Given the description of an element on the screen output the (x, y) to click on. 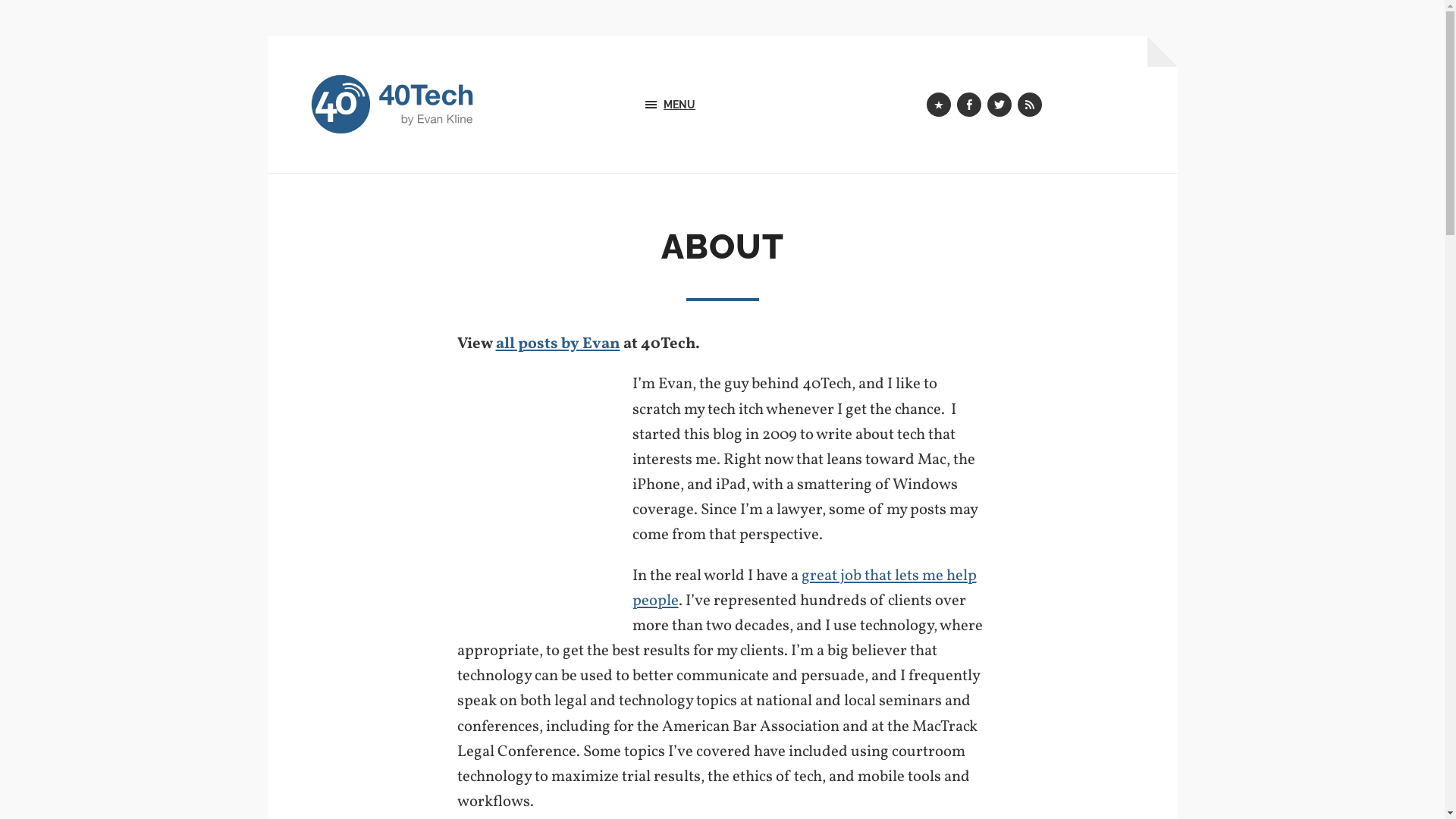
great job that lets me help people Element type: text (804, 587)
RSS Element type: text (1029, 104)
Mastodon Element type: text (938, 104)
Facebook Element type: text (969, 104)
all posts by Evan Element type: text (557, 343)
Twitter Element type: text (999, 104)
MENU Element type: text (721, 104)
